Given the description of an element on the screen output the (x, y) to click on. 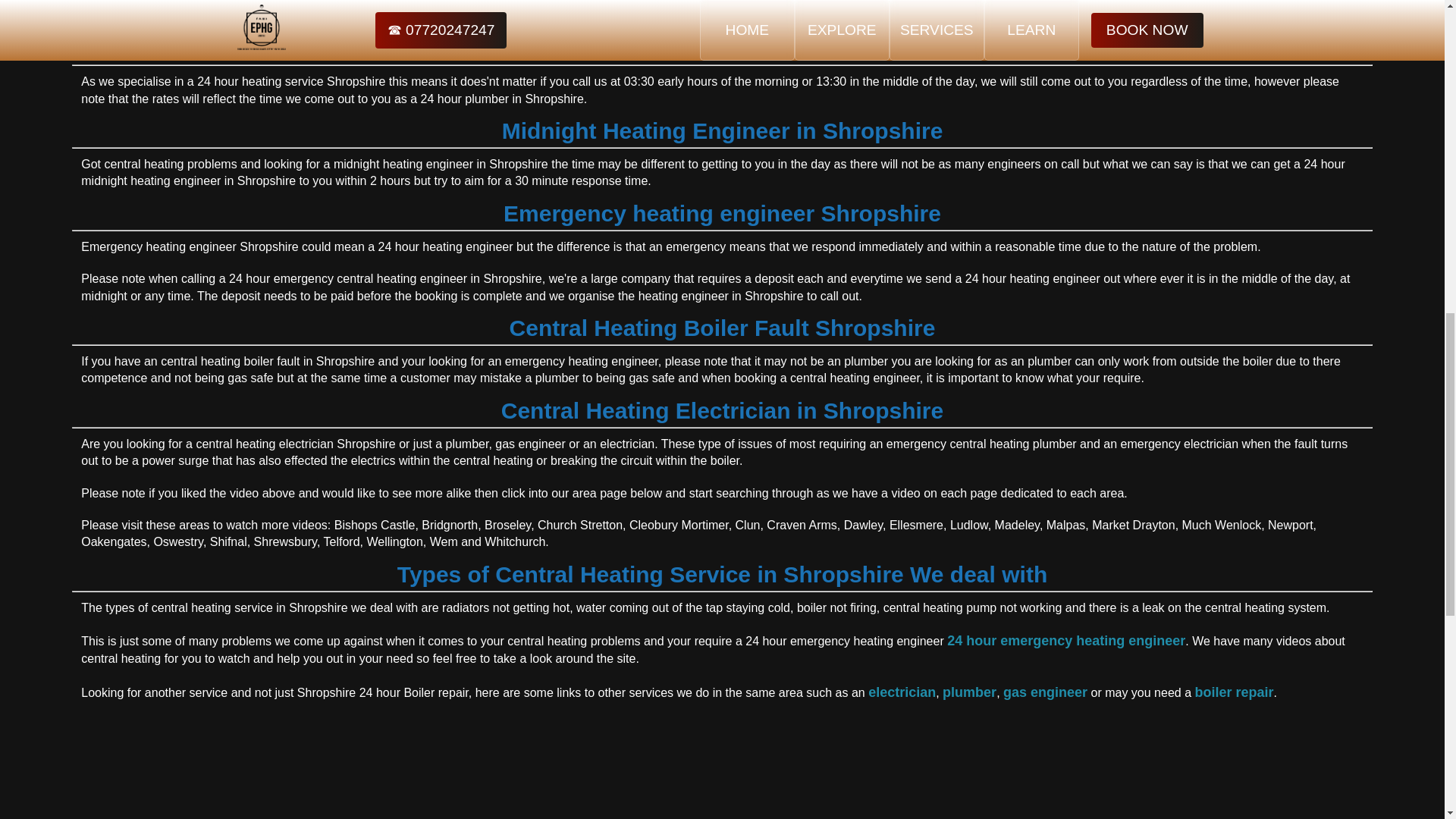
Plumber (968, 692)
Boiler Repair (1232, 692)
plumber (968, 692)
boiler repair (1232, 692)
Gas Engineer (1045, 692)
24 hour emergency heating engineer (1066, 640)
24 hour emergency heating engineer (1066, 640)
electrician (901, 692)
Electrician (901, 692)
gas engineer (1045, 692)
